Given the description of an element on the screen output the (x, y) to click on. 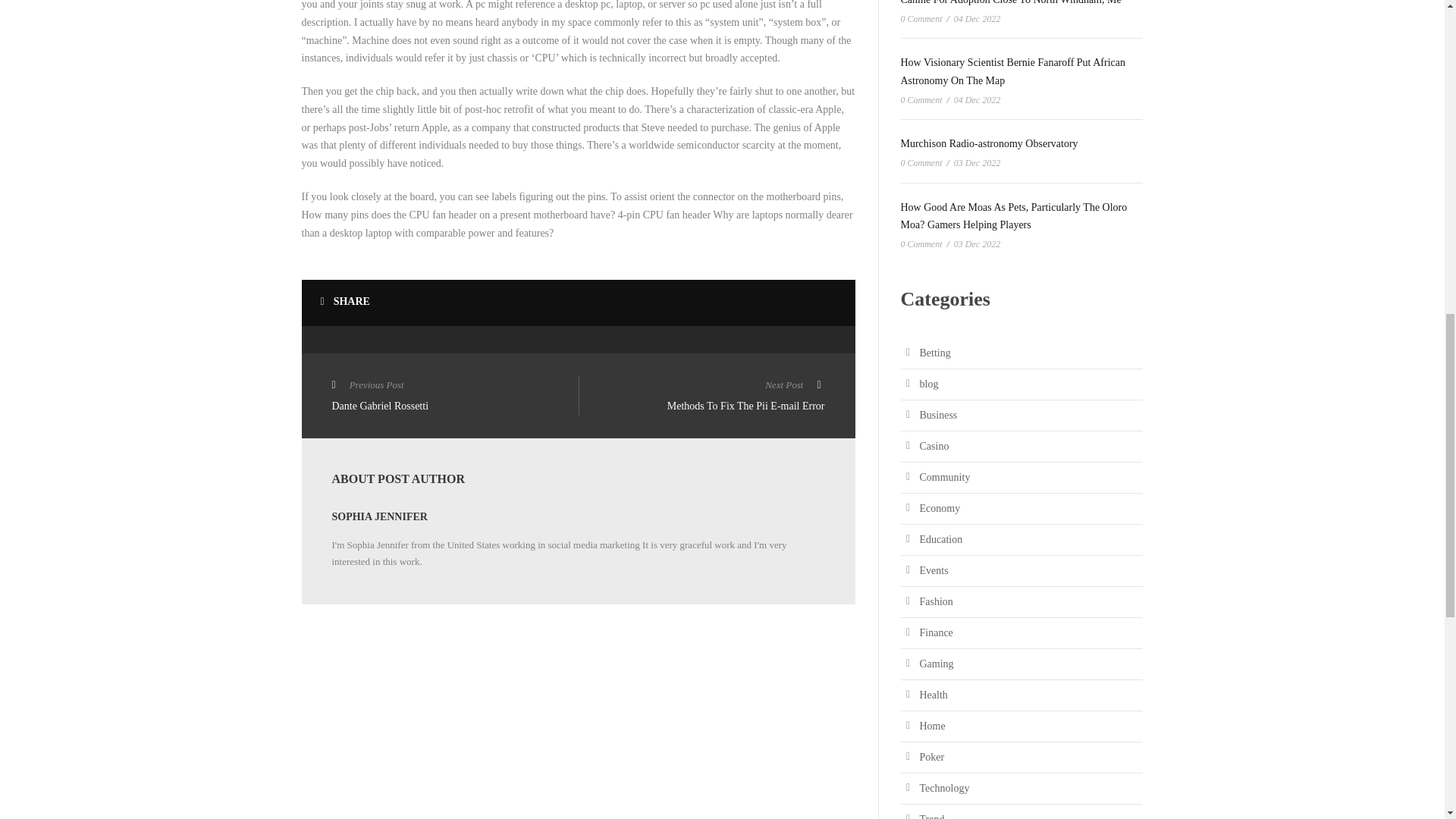
SOPHIA JENNIFER (379, 516)
Posts by Sophia Jennifer (701, 397)
